Given the description of an element on the screen output the (x, y) to click on. 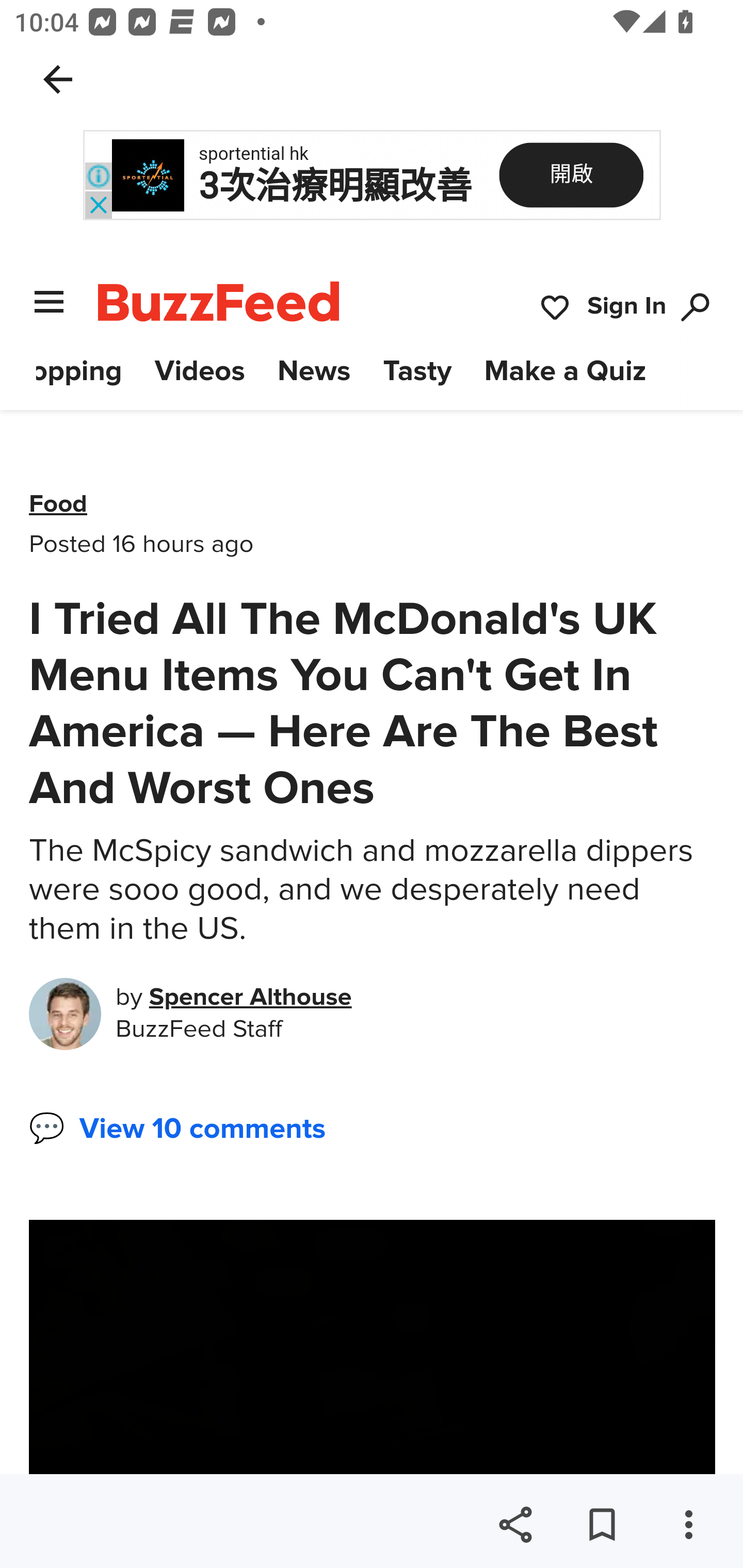
Navigate up (57, 79)
sportential hk (253, 154)
開啟 (571, 174)
3次治療明顯改善 (335, 187)
open menu to see more links (49, 301)
BuzzFeed Homepage (219, 301)
my wishlist (555, 307)
Sign In (626, 307)
Search BuzzFeed (695, 308)
Shopping (79, 371)
Videos (199, 371)
News (314, 371)
Tasty (417, 371)
Make a Quiz (565, 371)
Food (58, 504)
💬View 10 comments (177, 1128)
Share (514, 1524)
Save for later (601, 1524)
More options (688, 1524)
